Given the description of an element on the screen output the (x, y) to click on. 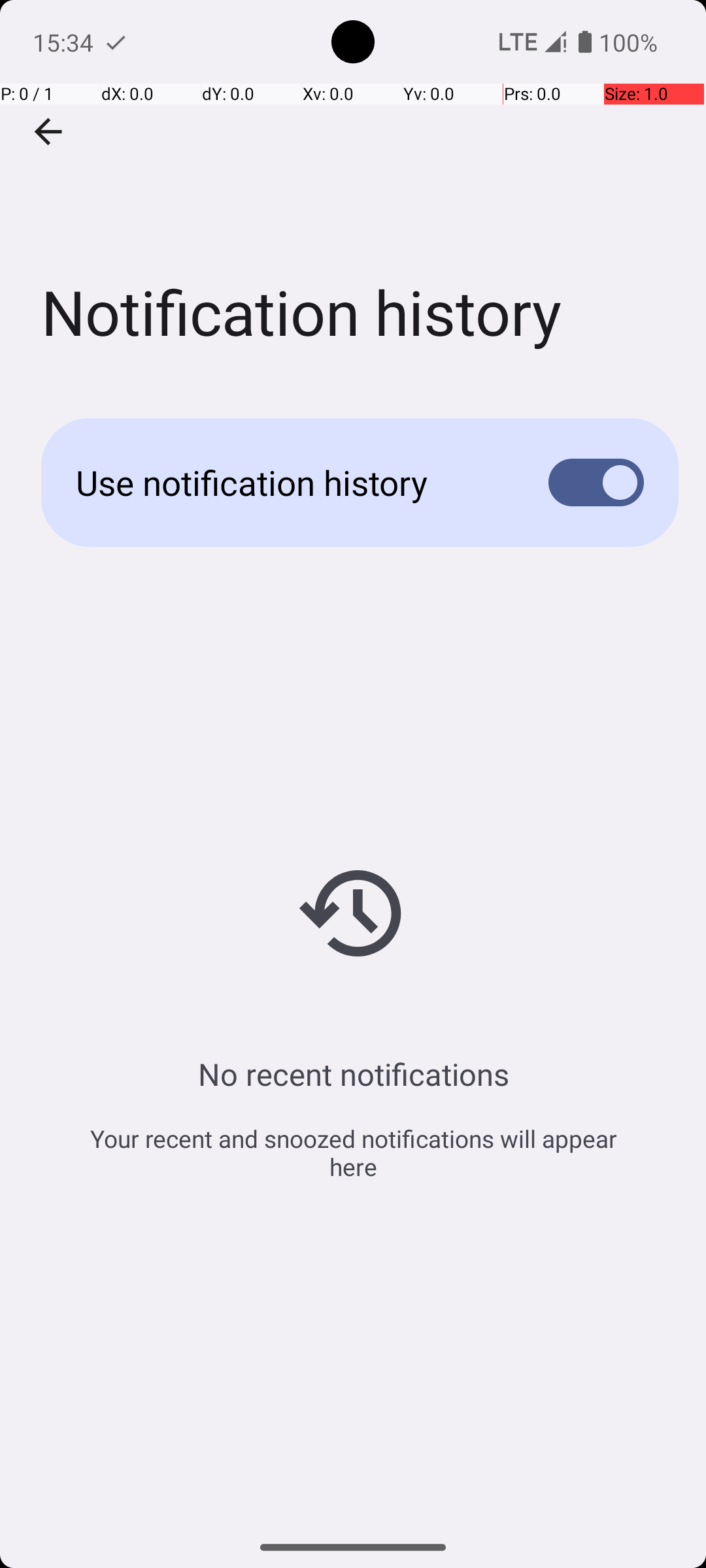
No recent notifications Element type: android.widget.TextView (352, 1073)
Your recent and snoozed notifications will appear here Element type: android.widget.TextView (352, 1152)
Use notification history Element type: android.widget.TextView (291, 482)
